Given the description of an element on the screen output the (x, y) to click on. 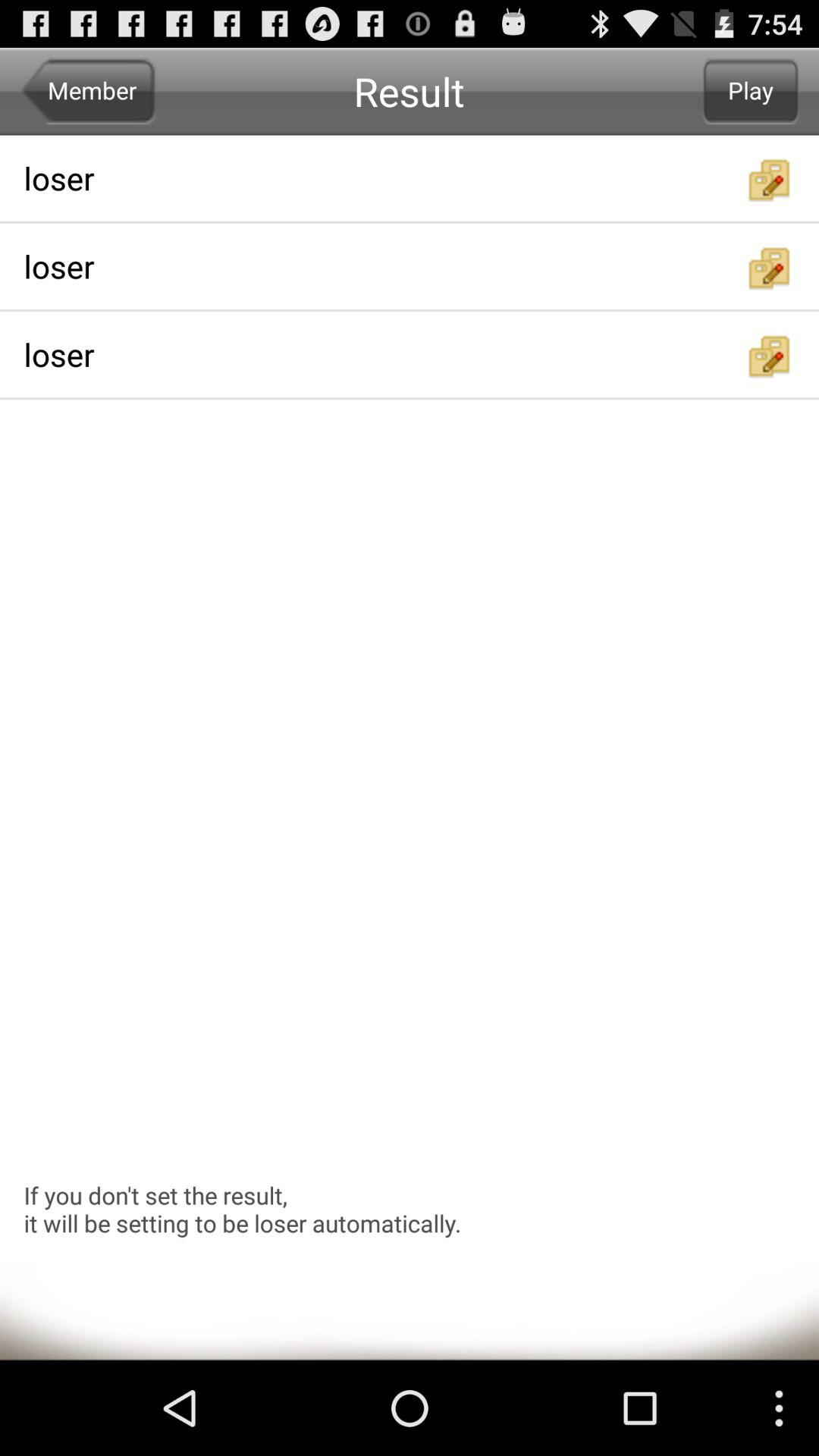
open the icon next to result item (750, 91)
